Given the description of an element on the screen output the (x, y) to click on. 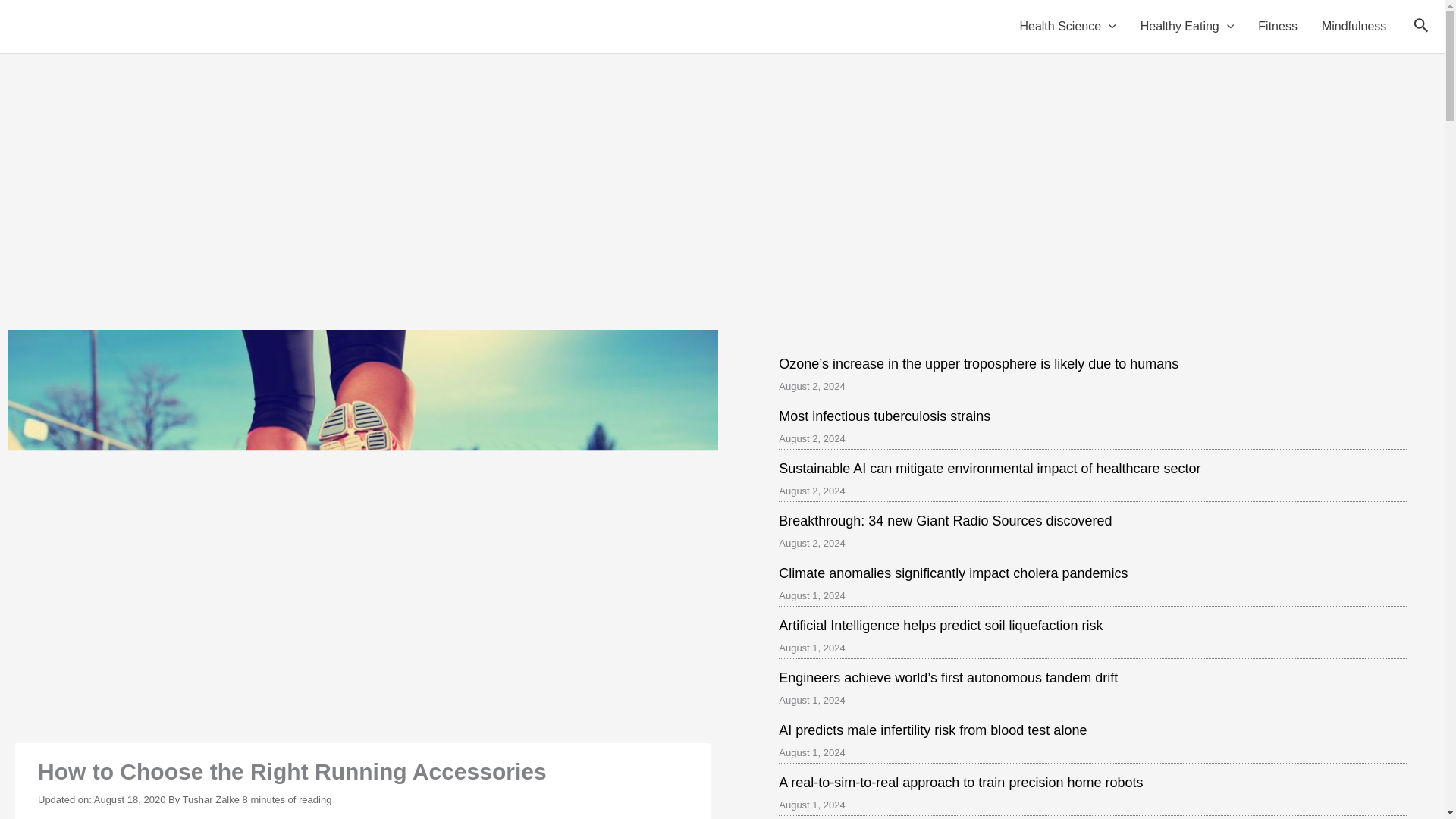
View all posts by Tushar Zalke (213, 799)
Healthy Eating (1187, 26)
Mindfulness (1352, 26)
Fitness (1277, 26)
Health Science (1066, 26)
